Given the description of an element on the screen output the (x, y) to click on. 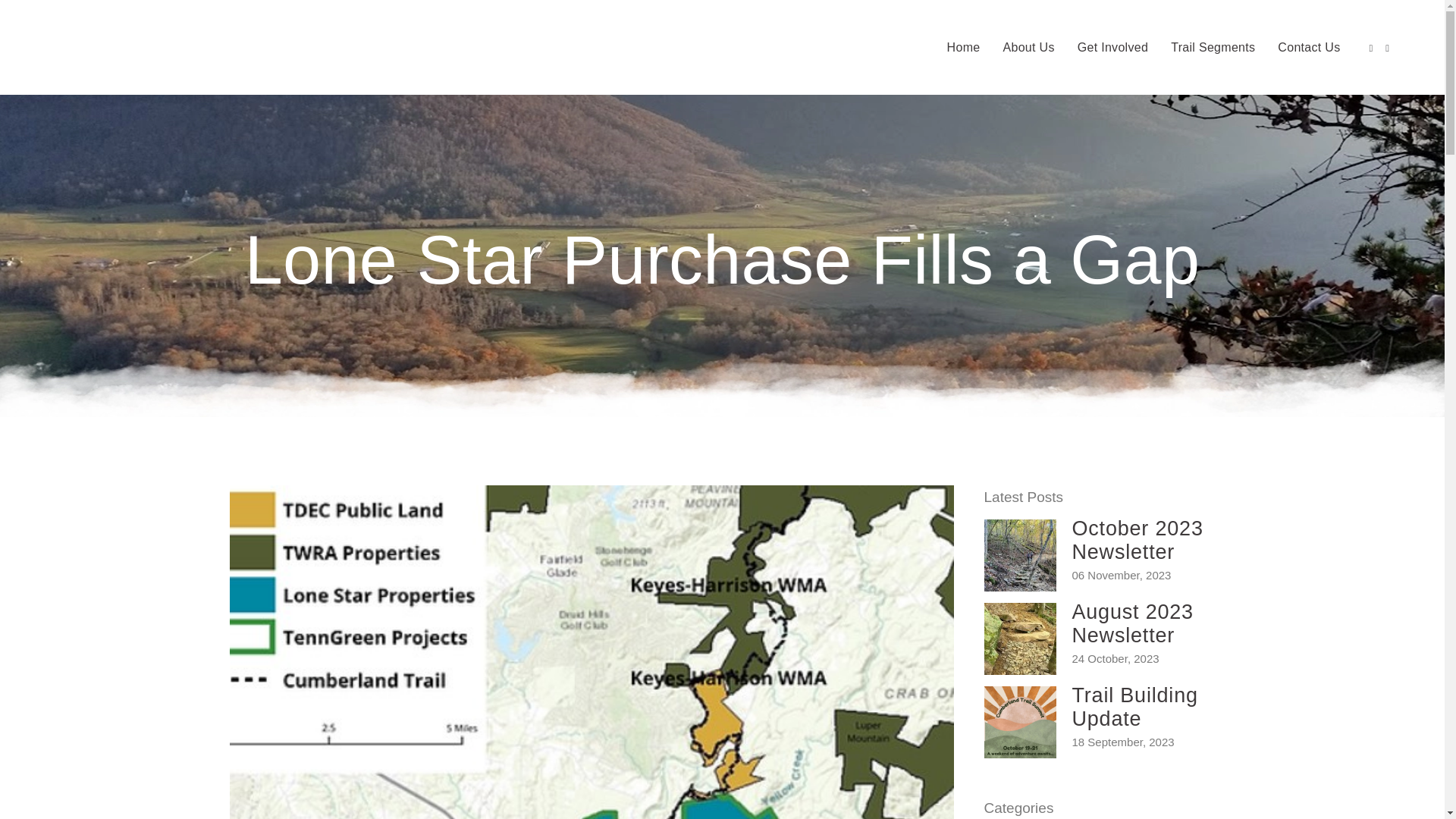
Trail Building Update (1134, 706)
Get Involved (1111, 47)
October 2023 Newsletter (1137, 539)
Trail Segments (1212, 47)
Contact Us (1308, 47)
August 2023 Newsletter (1132, 623)
